Given the description of an element on the screen output the (x, y) to click on. 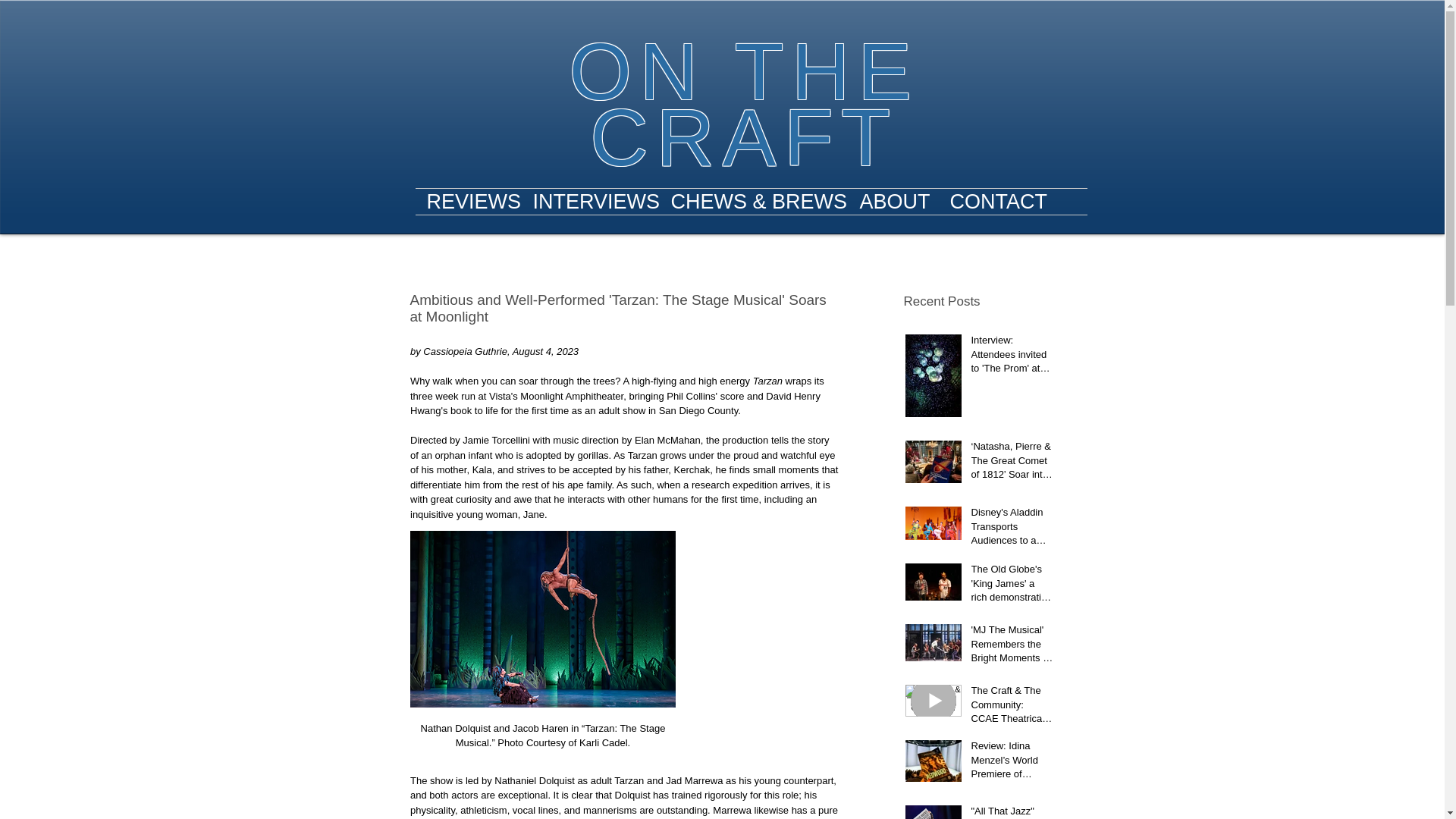
REVIEWS (467, 201)
CONTACT (998, 201)
ABOUT (892, 201)
INTERVIEWS (590, 201)
